Given the description of an element on the screen output the (x, y) to click on. 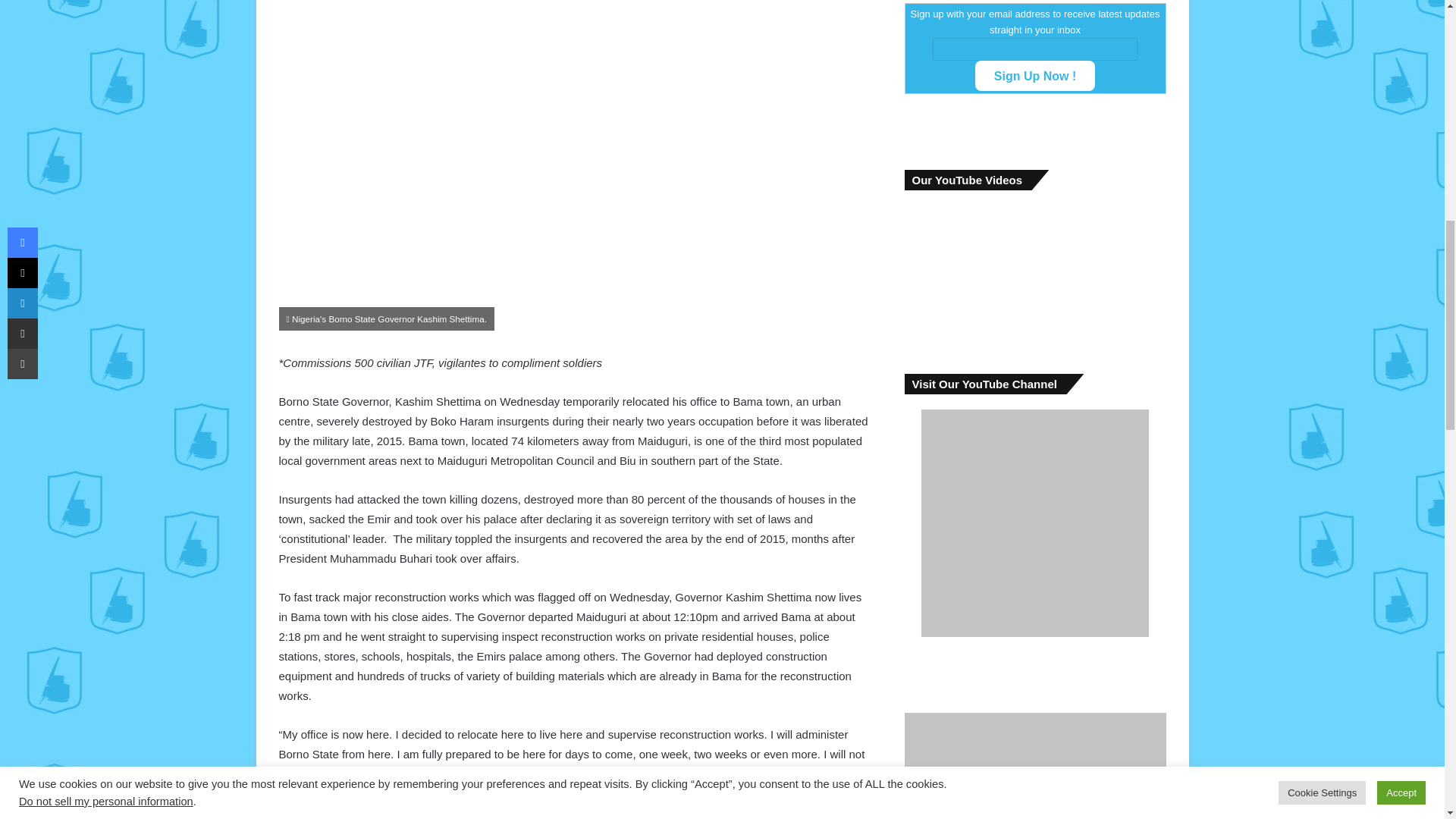
Sign Up Now ! (1034, 75)
